Given the description of an element on the screen output the (x, y) to click on. 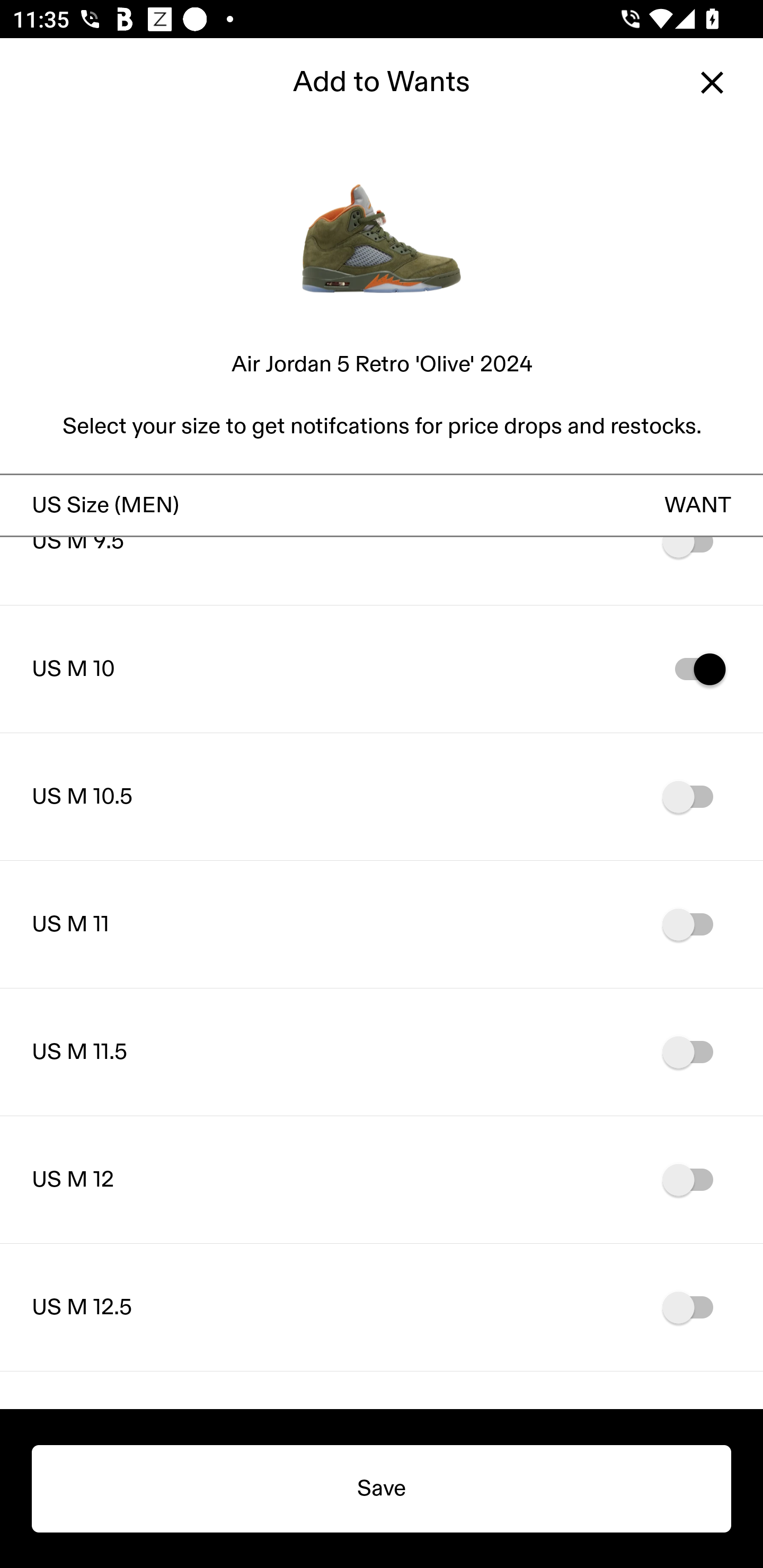
Save (381, 1488)
